Given the description of an element on the screen output the (x, y) to click on. 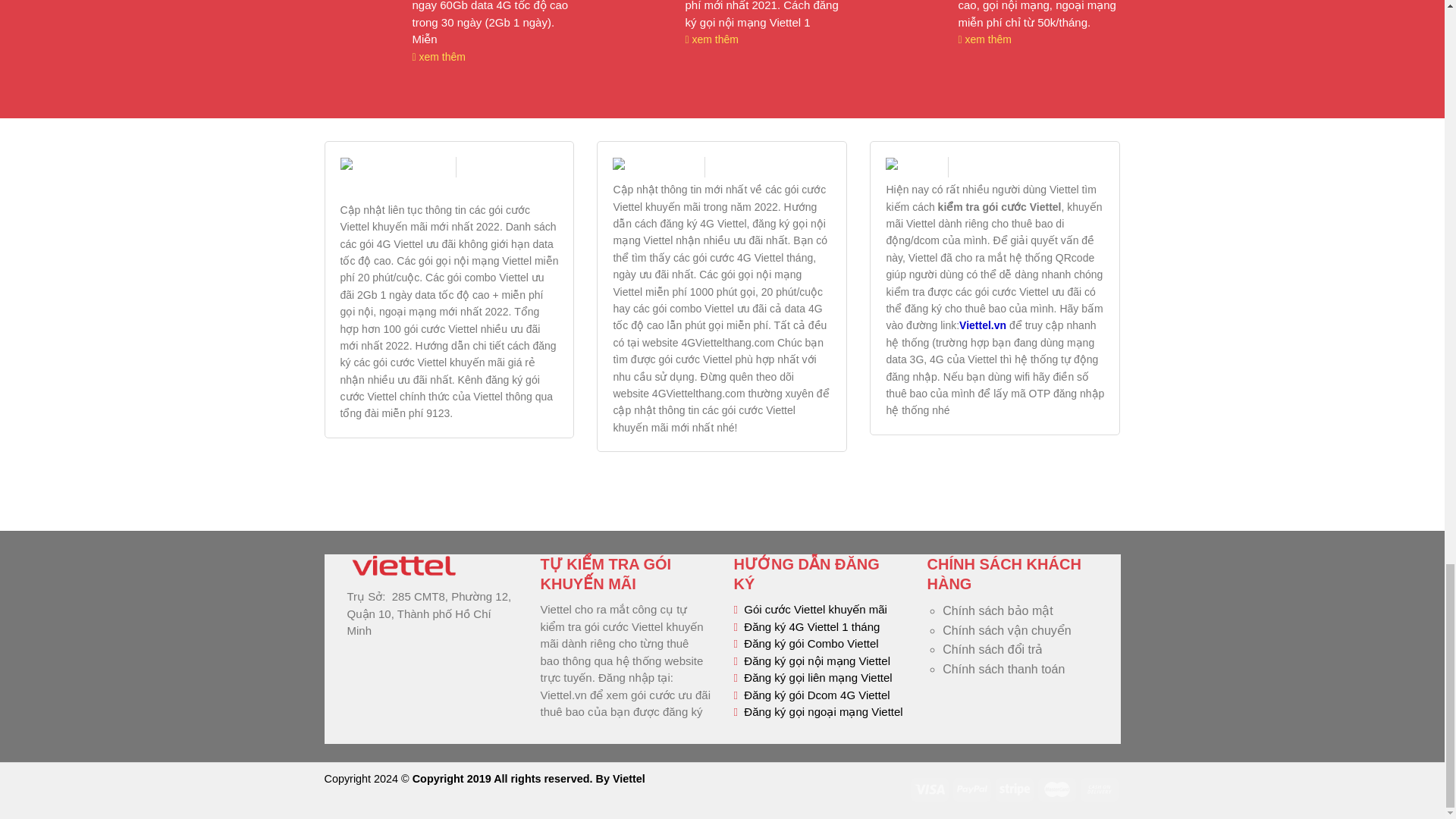
Viettel.vn (982, 325)
